Given the description of an element on the screen output the (x, y) to click on. 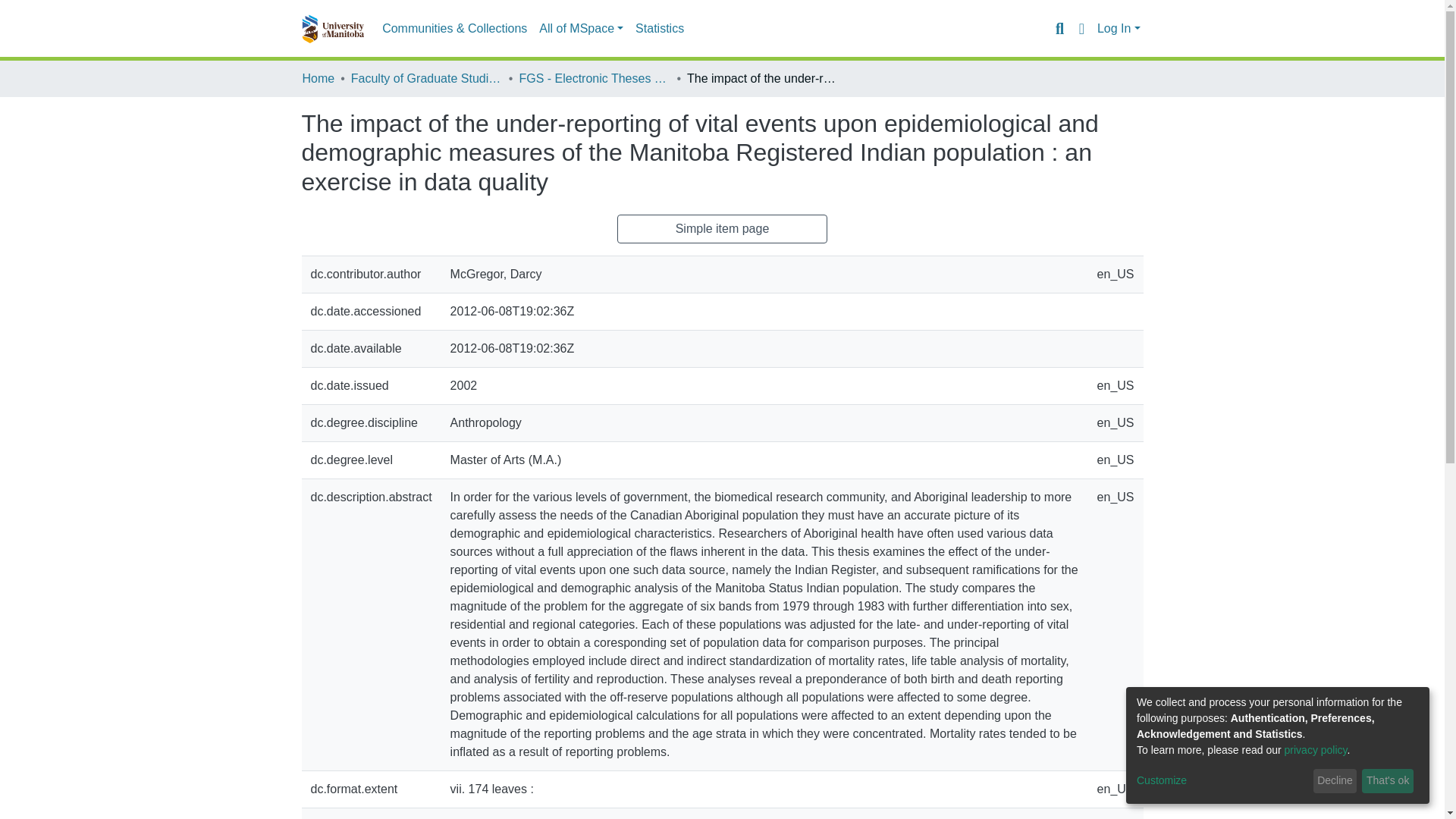
That's ok (1387, 781)
Statistics (659, 28)
Customize (1222, 780)
Simple item page (722, 228)
Log In (1118, 28)
Language switch (1081, 28)
Search (1058, 28)
FGS - Electronic Theses and Practica (593, 78)
All of MSpace (580, 28)
Statistics (659, 28)
Home (317, 78)
Decline (1334, 781)
privacy policy (1316, 749)
